Given the description of an element on the screen output the (x, y) to click on. 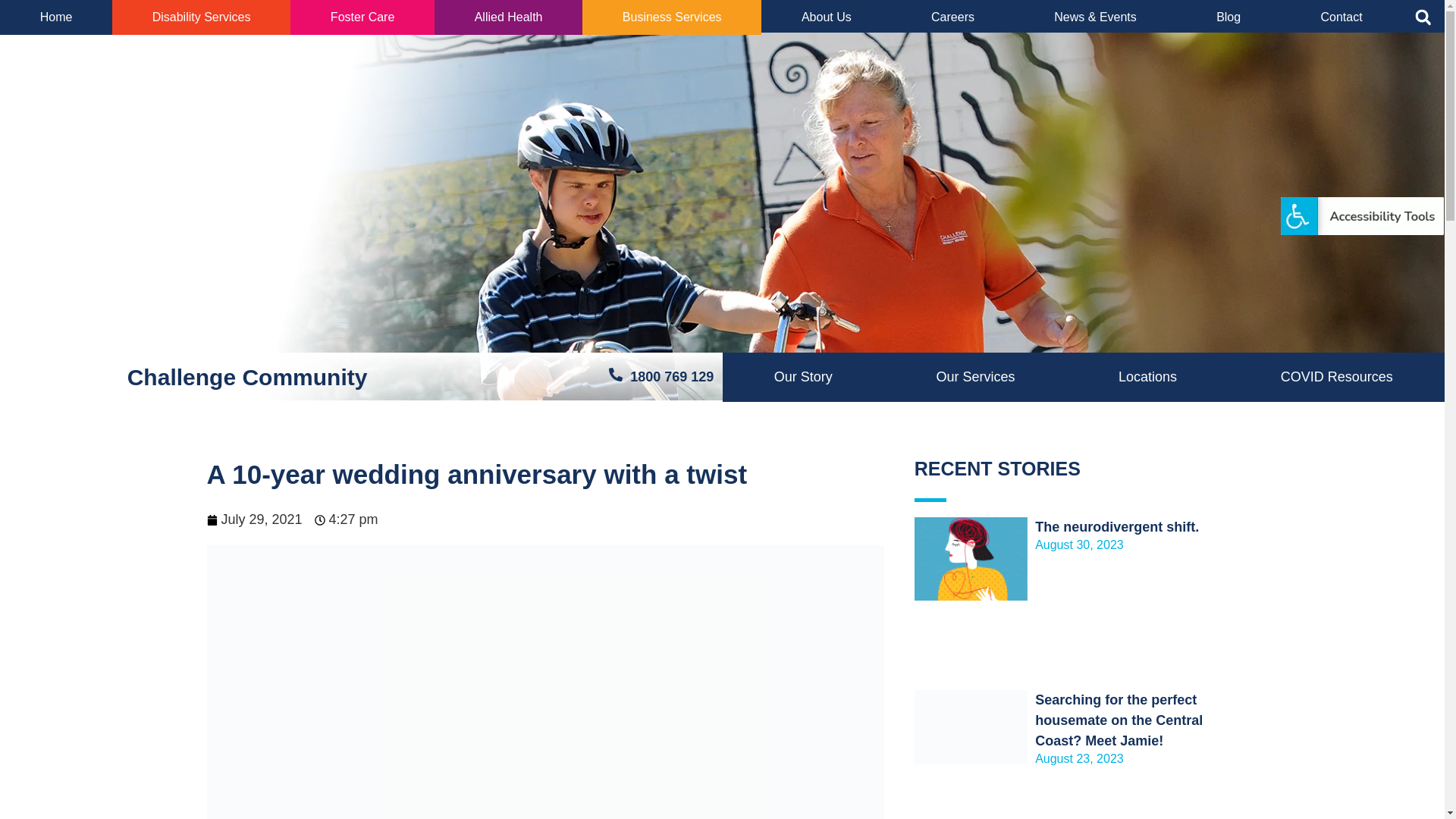
Home Element type: text (56, 17)
Careers Element type: text (952, 17)
Business Services Element type: text (671, 17)
The neurodivergent shift. Element type: text (1116, 526)
Foster Care Element type: text (362, 17)
1800 769 129 Element type: text (660, 377)
Disability Services Element type: text (201, 17)
Our Services Element type: text (975, 376)
Contact Element type: text (1341, 17)
Locations Element type: text (1147, 376)
News & Events Element type: text (1095, 17)
About Us Element type: text (826, 17)
Blog Element type: text (1228, 17)
Allied Health Element type: text (508, 17)
COVID Resources Element type: text (1336, 376)
Our Story Element type: text (802, 376)
